Given the description of an element on the screen output the (x, y) to click on. 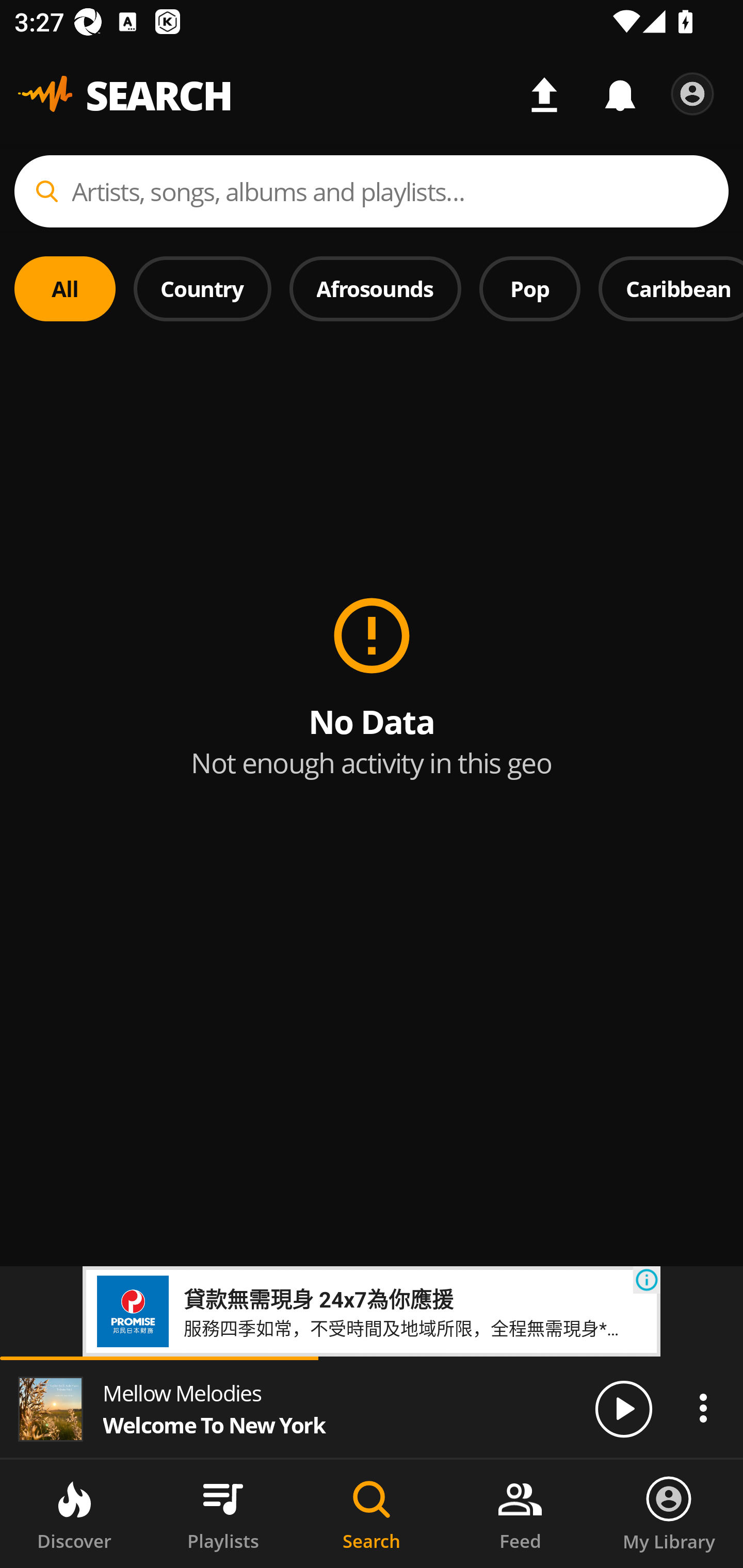
Settings (692, 94)
Artists, songs, albums and playlists… (371, 191)
All (64, 288)
Country (202, 288)
Afrosounds (375, 288)
Pop (529, 288)
Caribbean (670, 288)
Ad Choices Icon (646, 1279)
貸款無需現身 24x7為你應援 (318, 1297)
服務四季如常，不受時間及地域所限，全程無需現身*，申請至過數網上辦妥，邦民總為你及時應援！ (408, 1326)
Actions (703, 1407)
Play/Pause (623, 1408)
Discover (74, 1513)
Playlists (222, 1513)
Search (371, 1513)
Feed (519, 1513)
My Library (668, 1513)
